Given the description of an element on the screen output the (x, y) to click on. 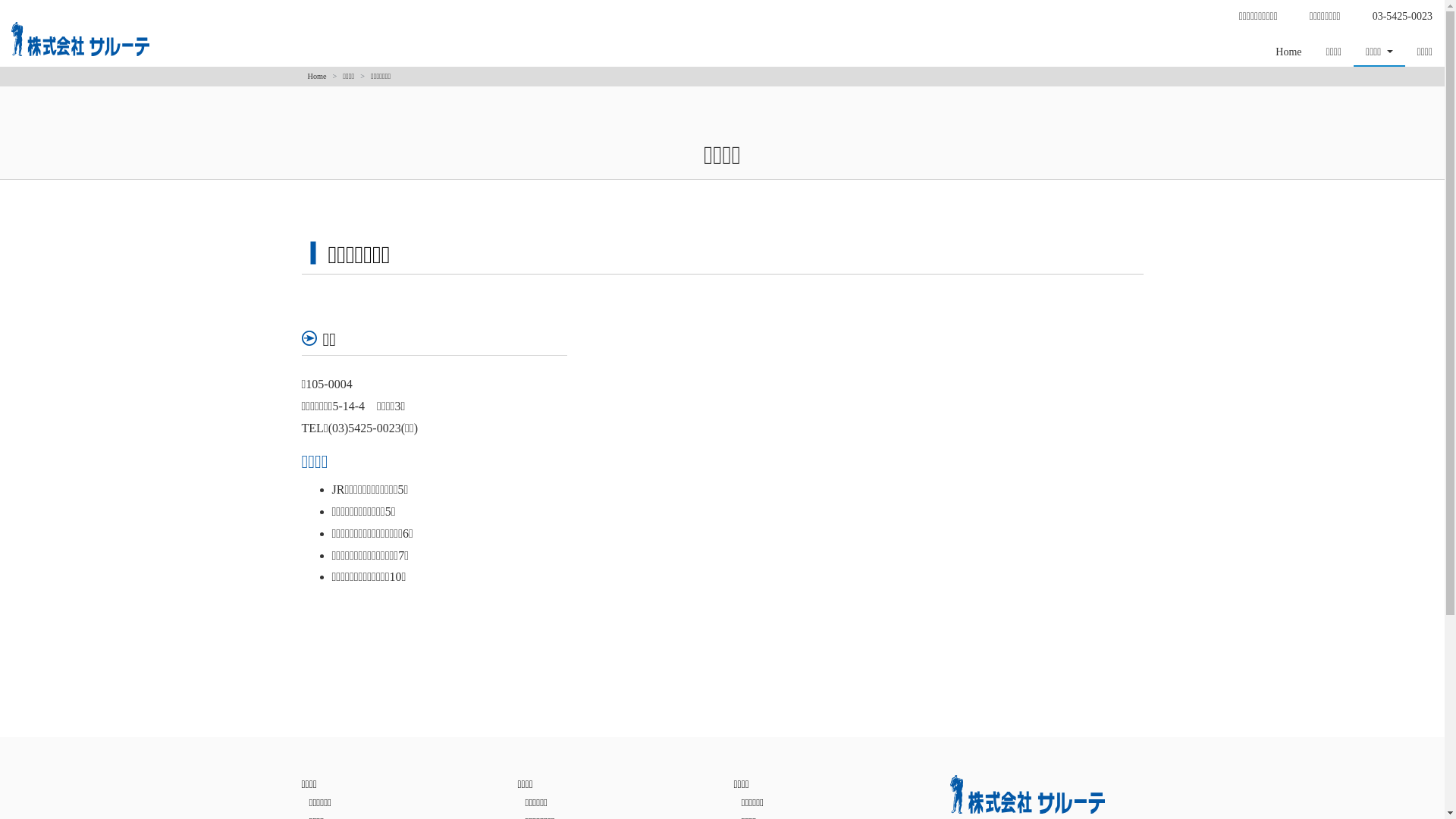
Home
(current) Element type: text (1288, 50)
(03)5425-0023 Element type: text (364, 427)
Home Element type: text (316, 76)
03-5425-0023 Element type: text (1402, 14)
